Given the description of an element on the screen output the (x, y) to click on. 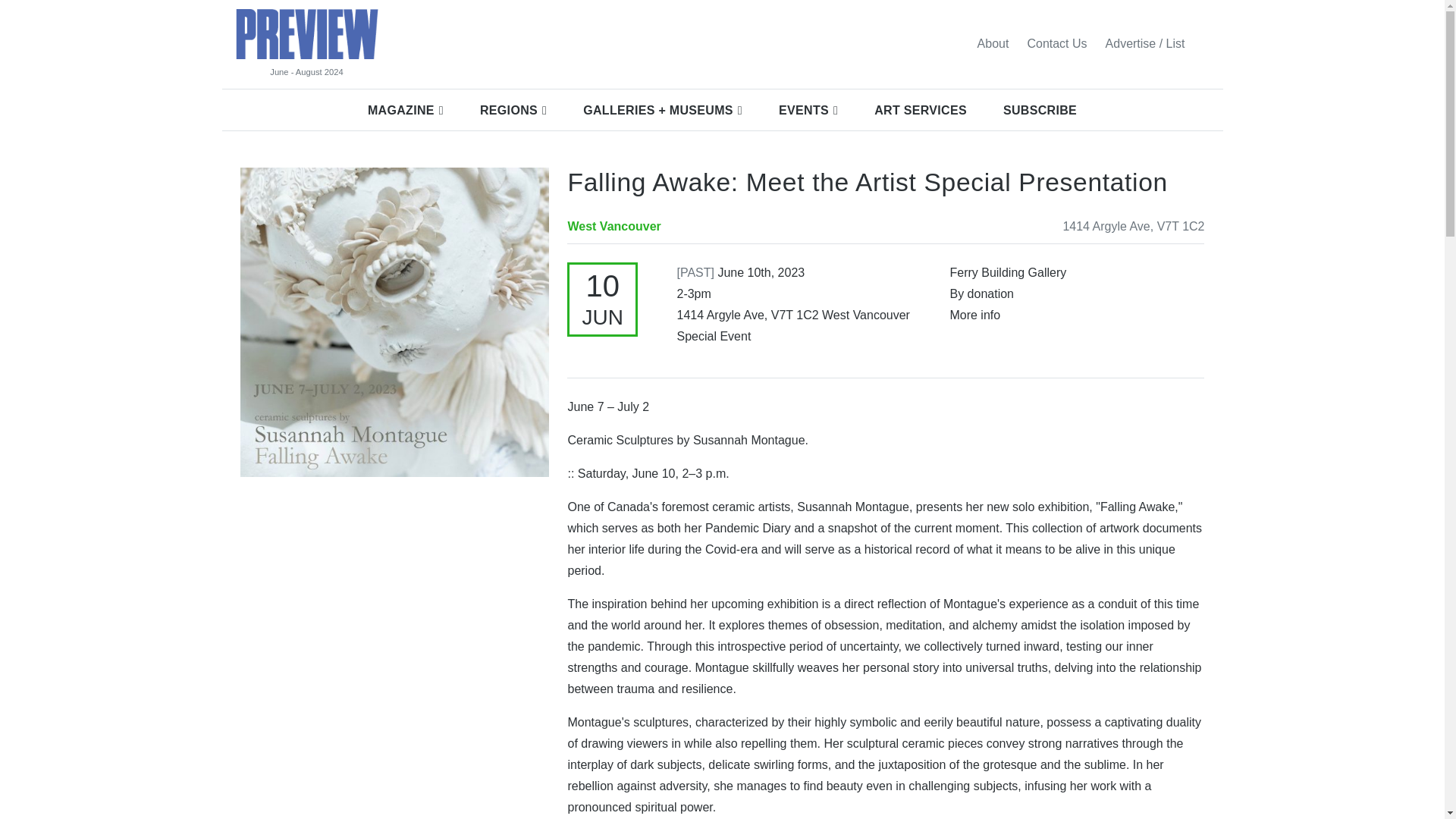
ART SERVICES (920, 110)
More info (974, 314)
June - August 2024 (305, 71)
Open Search (1202, 43)
MAGAZINE (405, 110)
EVENTS (808, 110)
Ferry Building Gallery (1007, 272)
About (992, 43)
Contact Us (1056, 43)
